Given the description of an element on the screen output the (x, y) to click on. 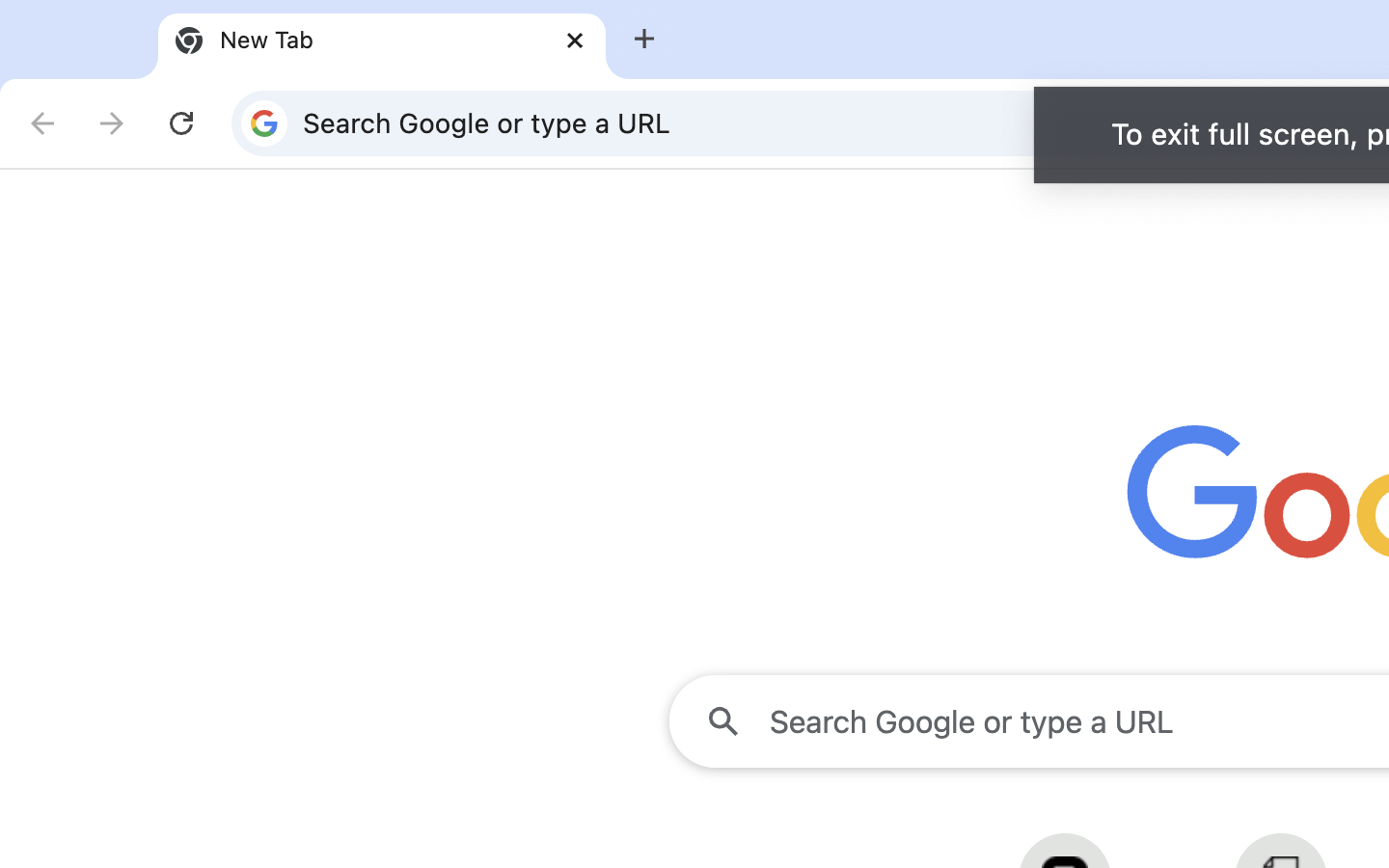
True Element type: AXRadioButton (381, 41)
